Given the description of an element on the screen output the (x, y) to click on. 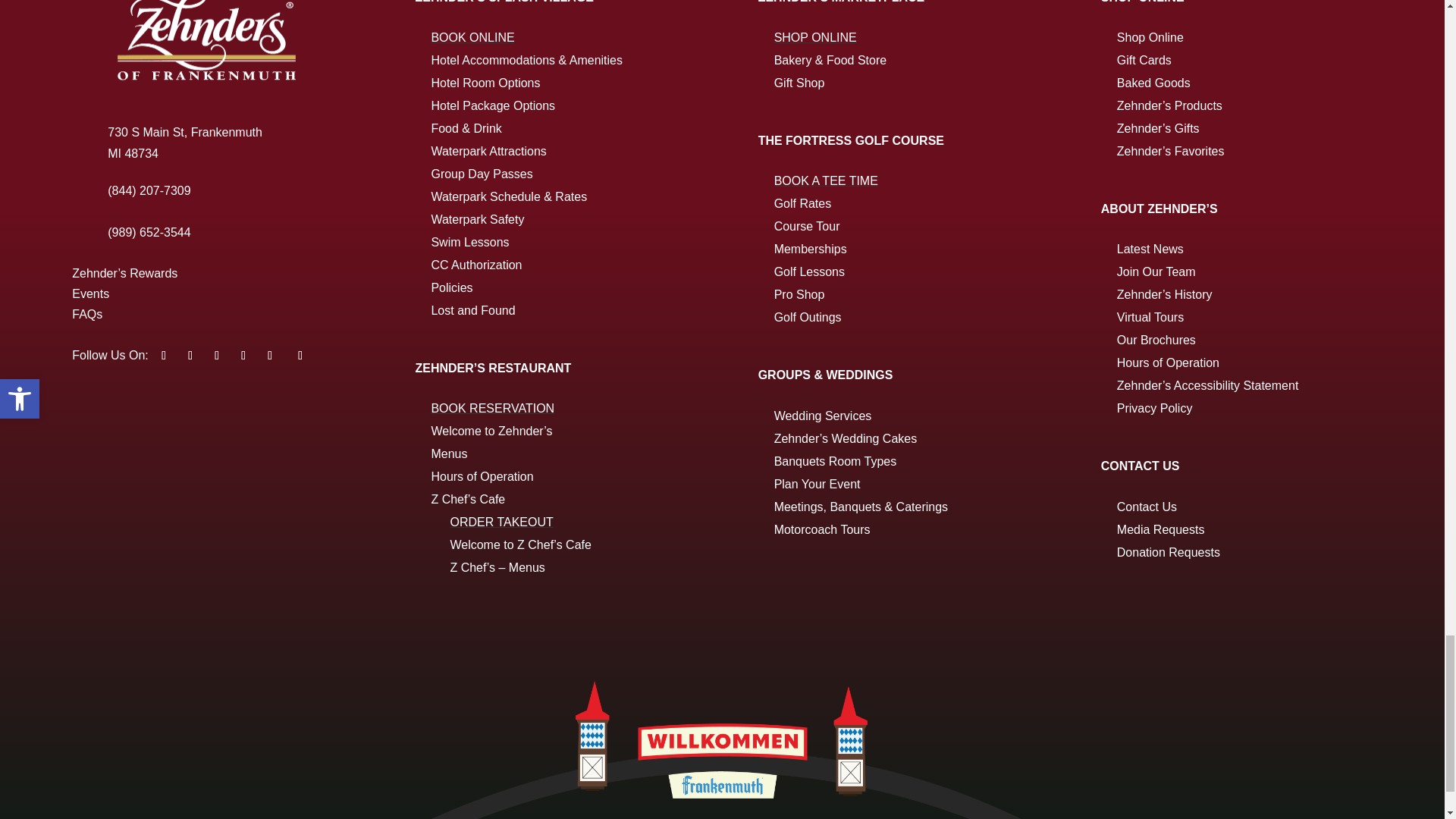
ZENGOLD2 (207, 43)
Follow on RSS (300, 355)
Follow on Youtube (216, 355)
Follow on Facebook (163, 355)
Follow on Instagram (269, 355)
Follow on X (189, 355)
Follow on Pinterest (243, 355)
